Given the description of an element on the screen output the (x, y) to click on. 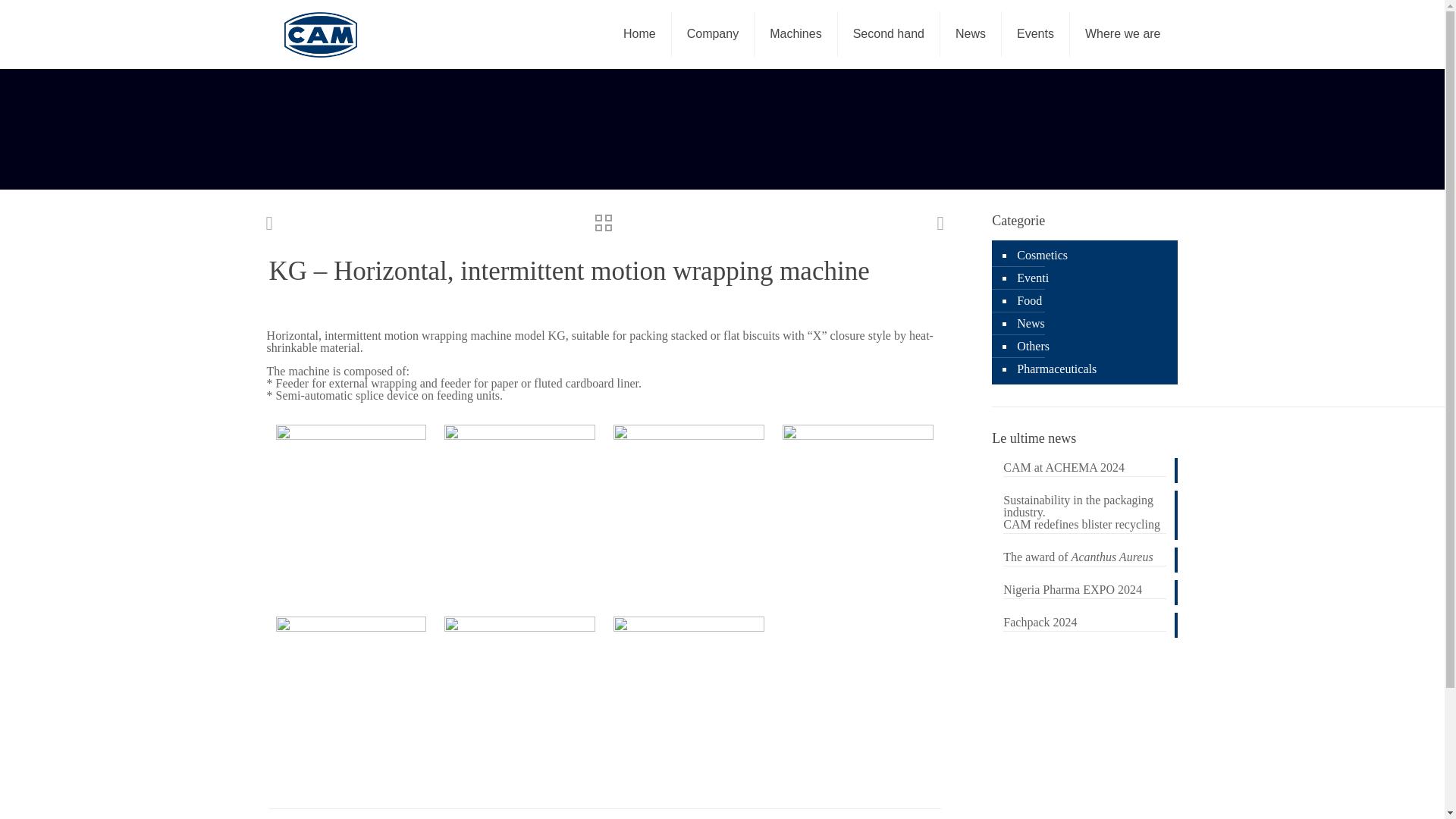
Home (639, 33)
Machines (795, 33)
Company (712, 33)
CAM Automatic Machines (319, 33)
